Given the description of an element on the screen output the (x, y) to click on. 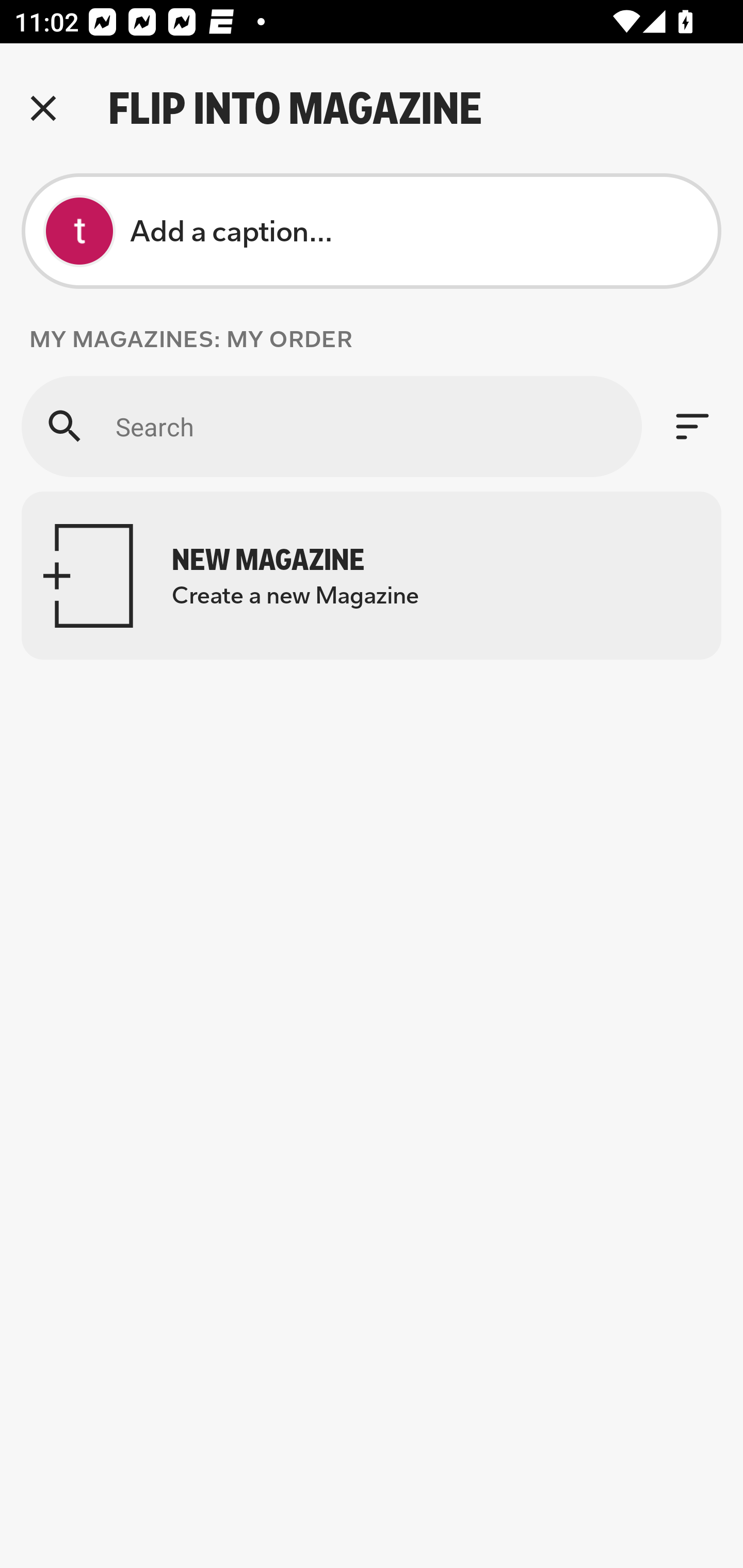
test appium Add a caption… (371, 231)
Search (331, 426)
NEW MAGAZINE Create a new Magazine (371, 575)
